Given the description of an element on the screen output the (x, y) to click on. 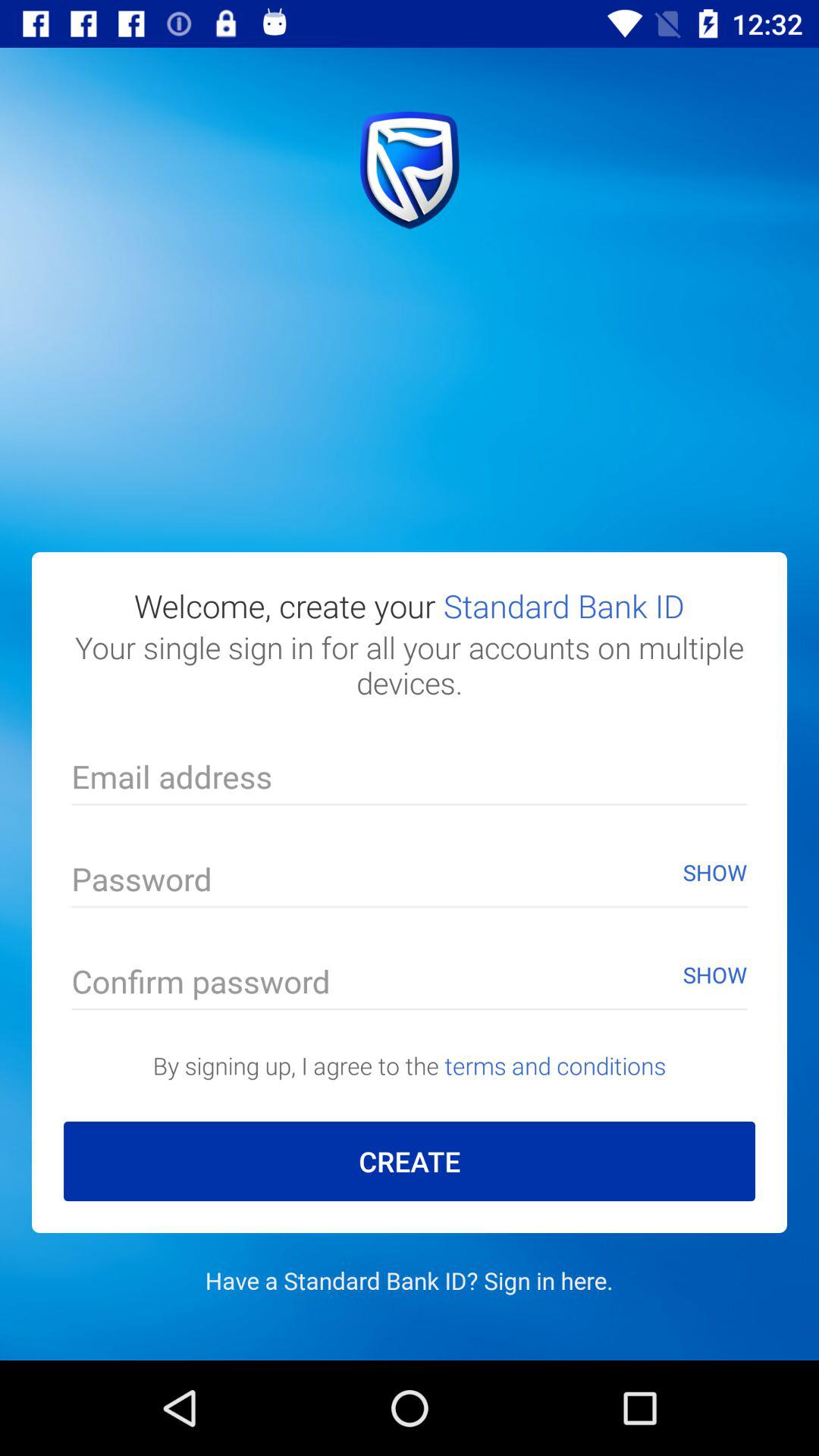
swipe to the by signing up item (409, 1065)
